Given the description of an element on the screen output the (x, y) to click on. 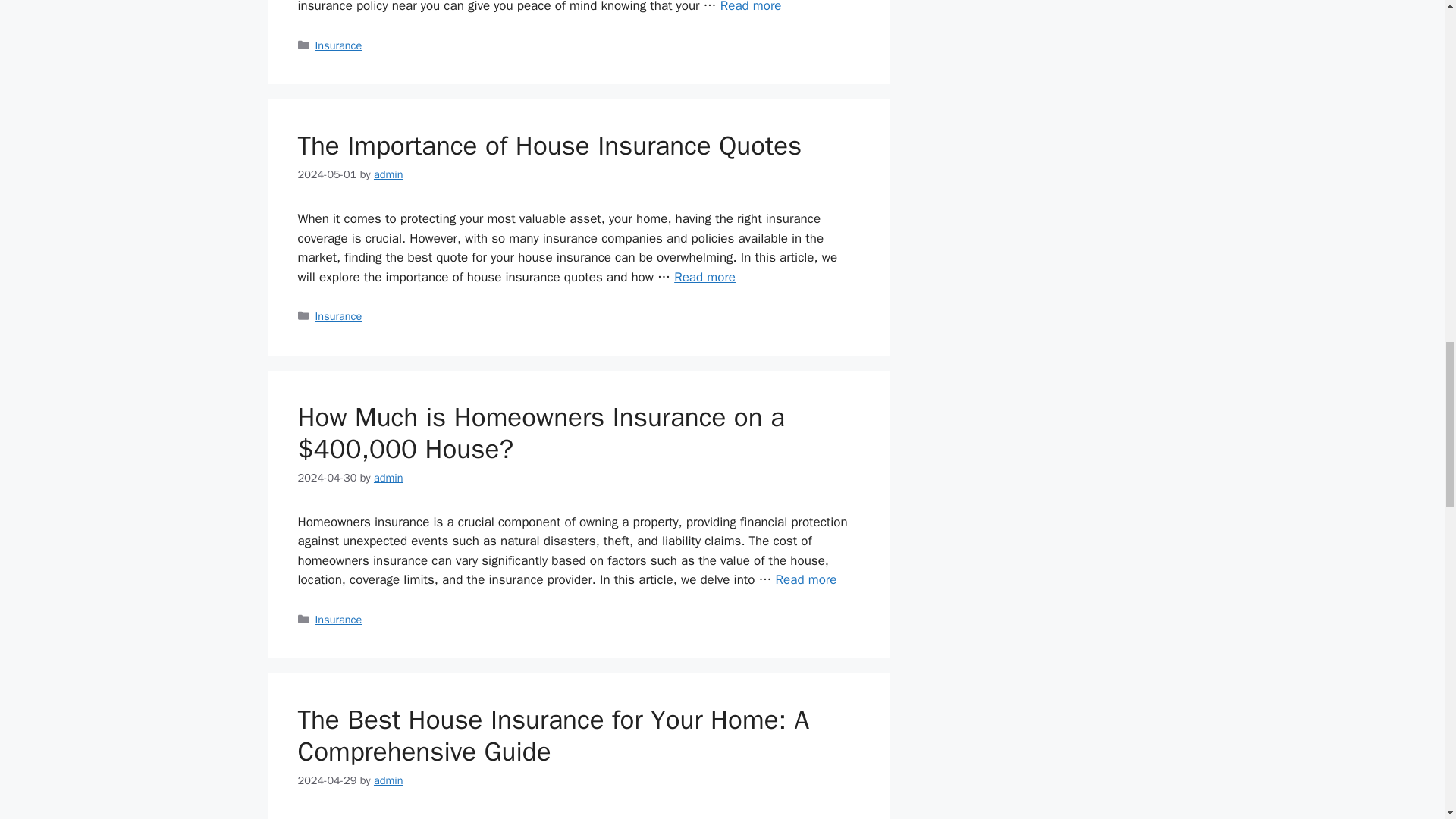
admin (388, 477)
View all posts by admin (388, 477)
The Importance of House Insurance Quotes (549, 145)
View all posts by admin (388, 780)
View all posts by admin (388, 173)
The Importance of House Insurance Quotes (704, 277)
Read more (750, 6)
admin (388, 173)
admin (388, 780)
Read more (806, 579)
Insurance (338, 315)
Insurance (338, 619)
Insurance (338, 45)
Read more (704, 277)
